Given the description of an element on the screen output the (x, y) to click on. 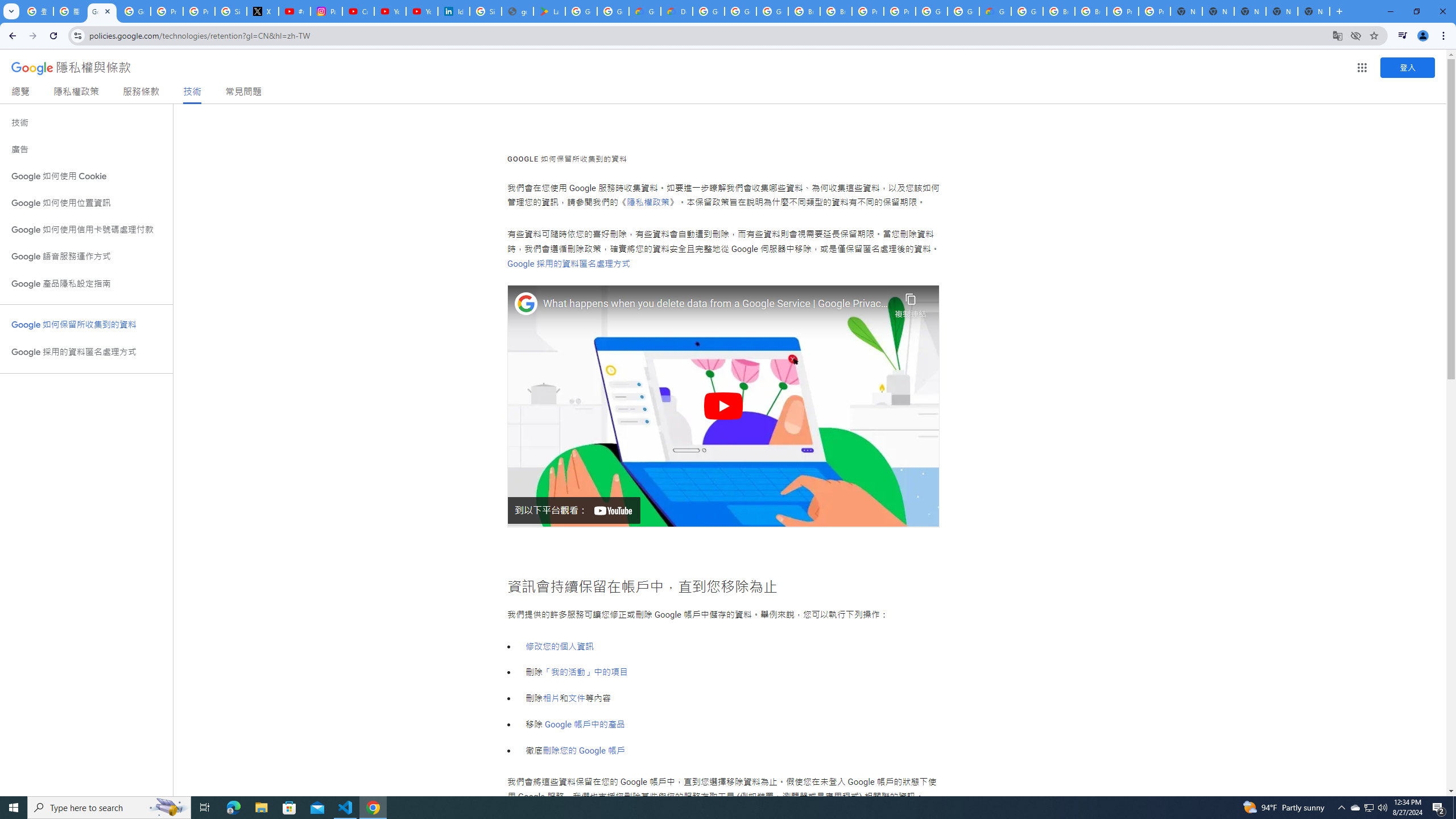
Last Shelter: Survival - Apps on Google Play (549, 11)
Browse Chrome as a guest - Computer - Google Chrome Help (836, 11)
